Given the description of an element on the screen output the (x, y) to click on. 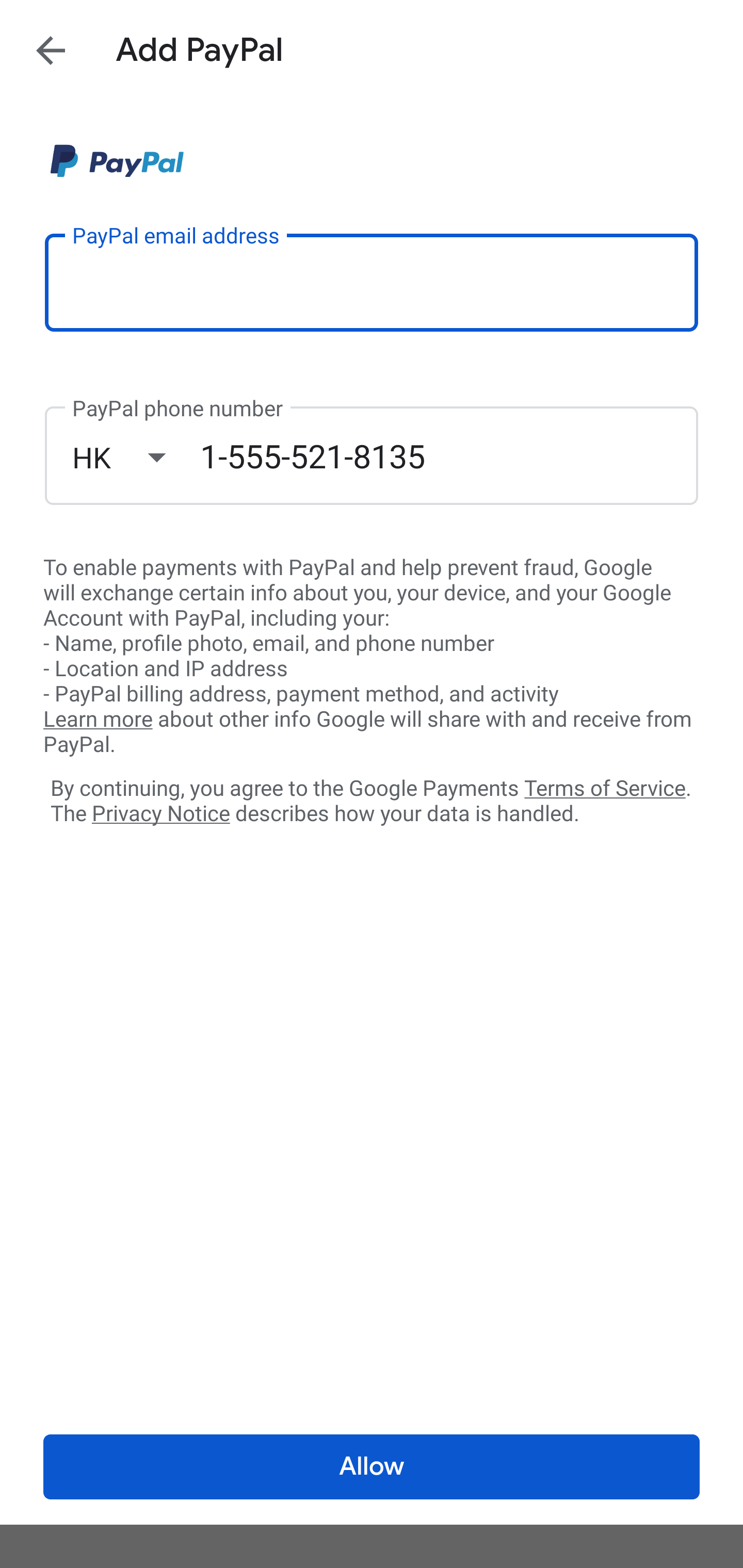
Navigate up (50, 50)
PayPal email address (371, 282)
HK (135, 456)
Learn more (97, 719)
Terms of Service (604, 787)
Privacy Notice (160, 814)
Allow (371, 1466)
